Given the description of an element on the screen output the (x, y) to click on. 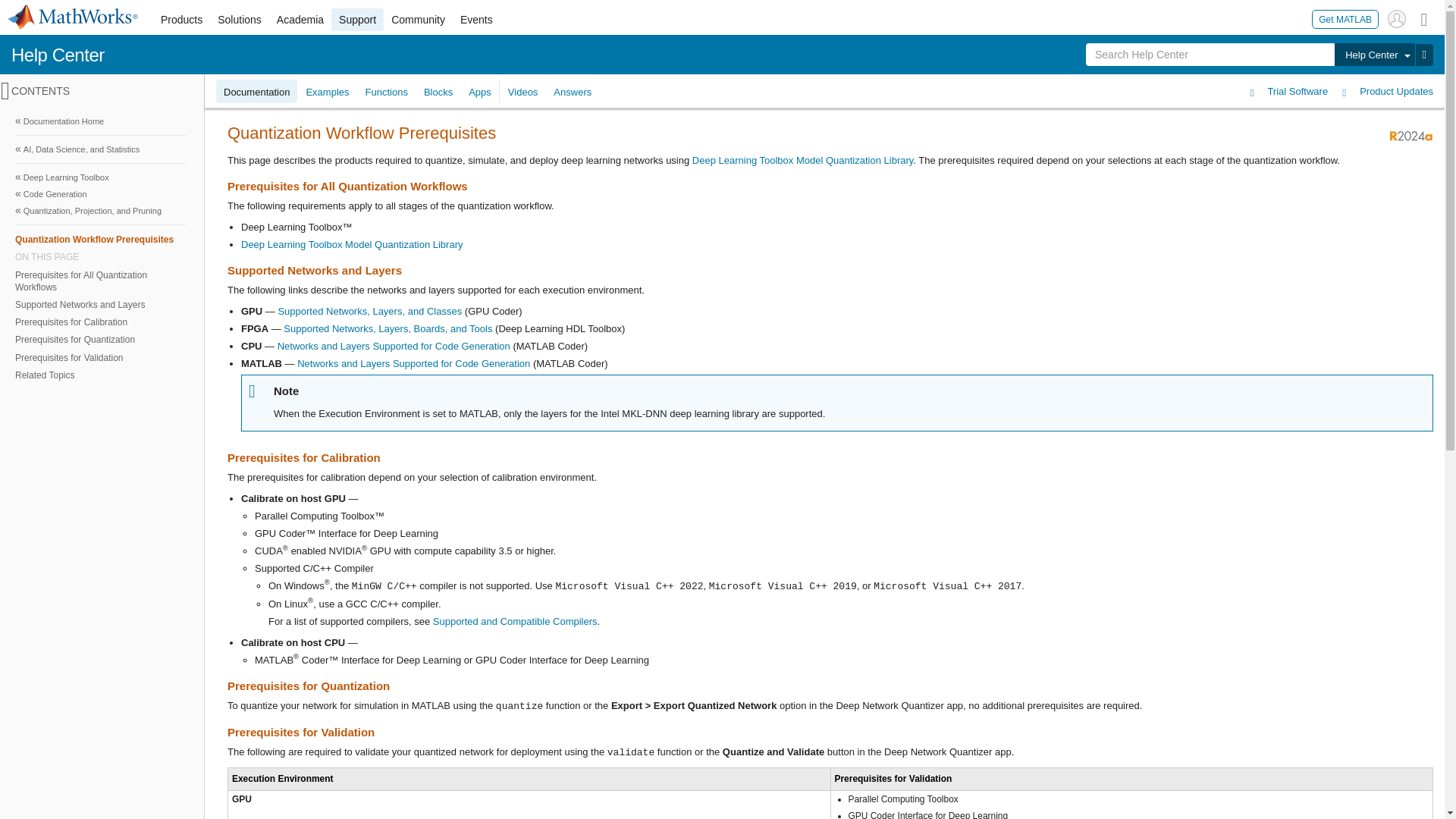
Support (357, 19)
Get MATLAB (1344, 18)
Solutions (239, 19)
Quantization Workflow Prerequisites (100, 239)
ON THIS PAGE (100, 256)
Events (476, 19)
Matrix Menu (1423, 18)
Community (418, 19)
Products (180, 19)
